Given the description of an element on the screen output the (x, y) to click on. 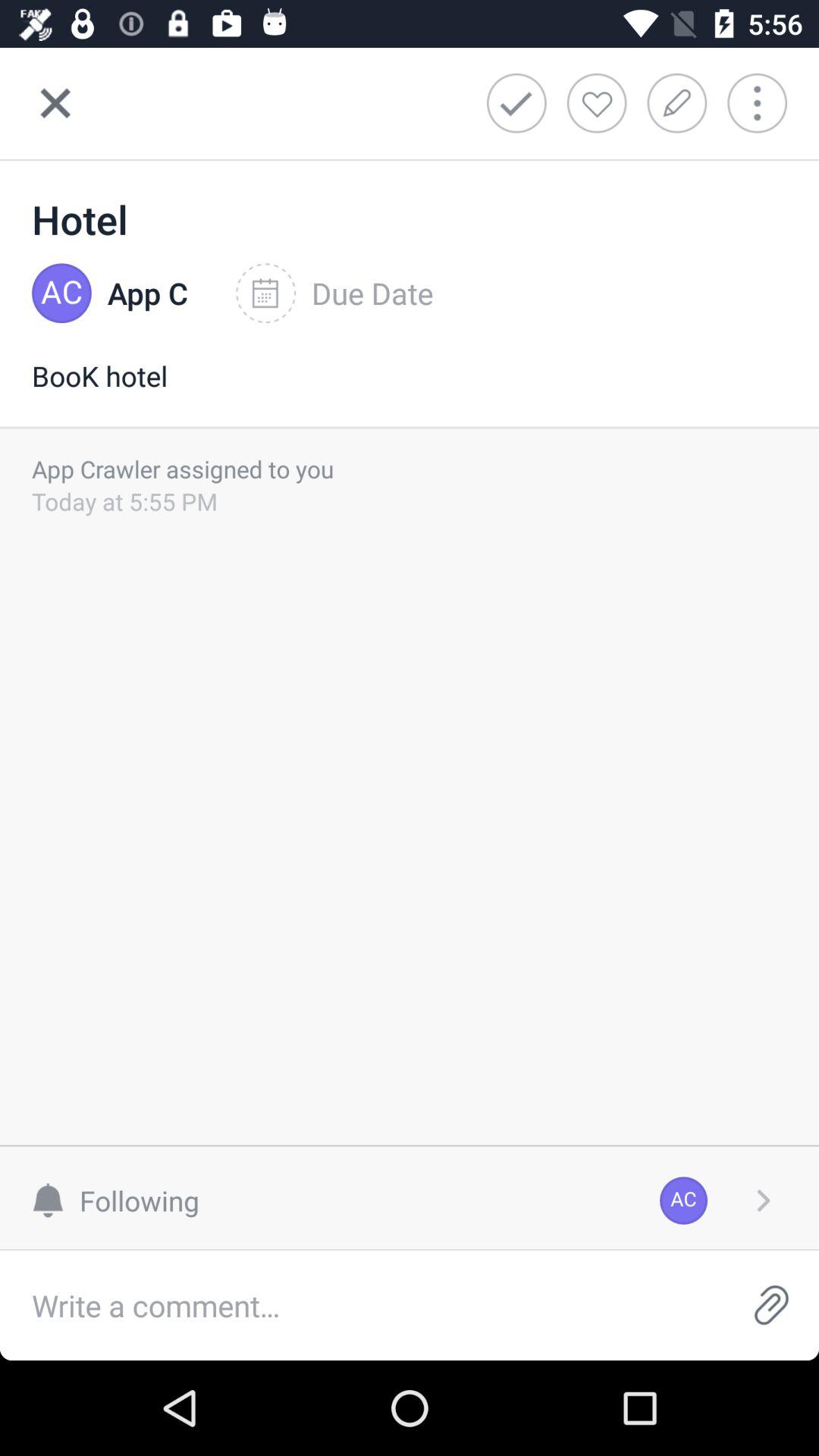
write a comment (361, 1305)
